Given the description of an element on the screen output the (x, y) to click on. 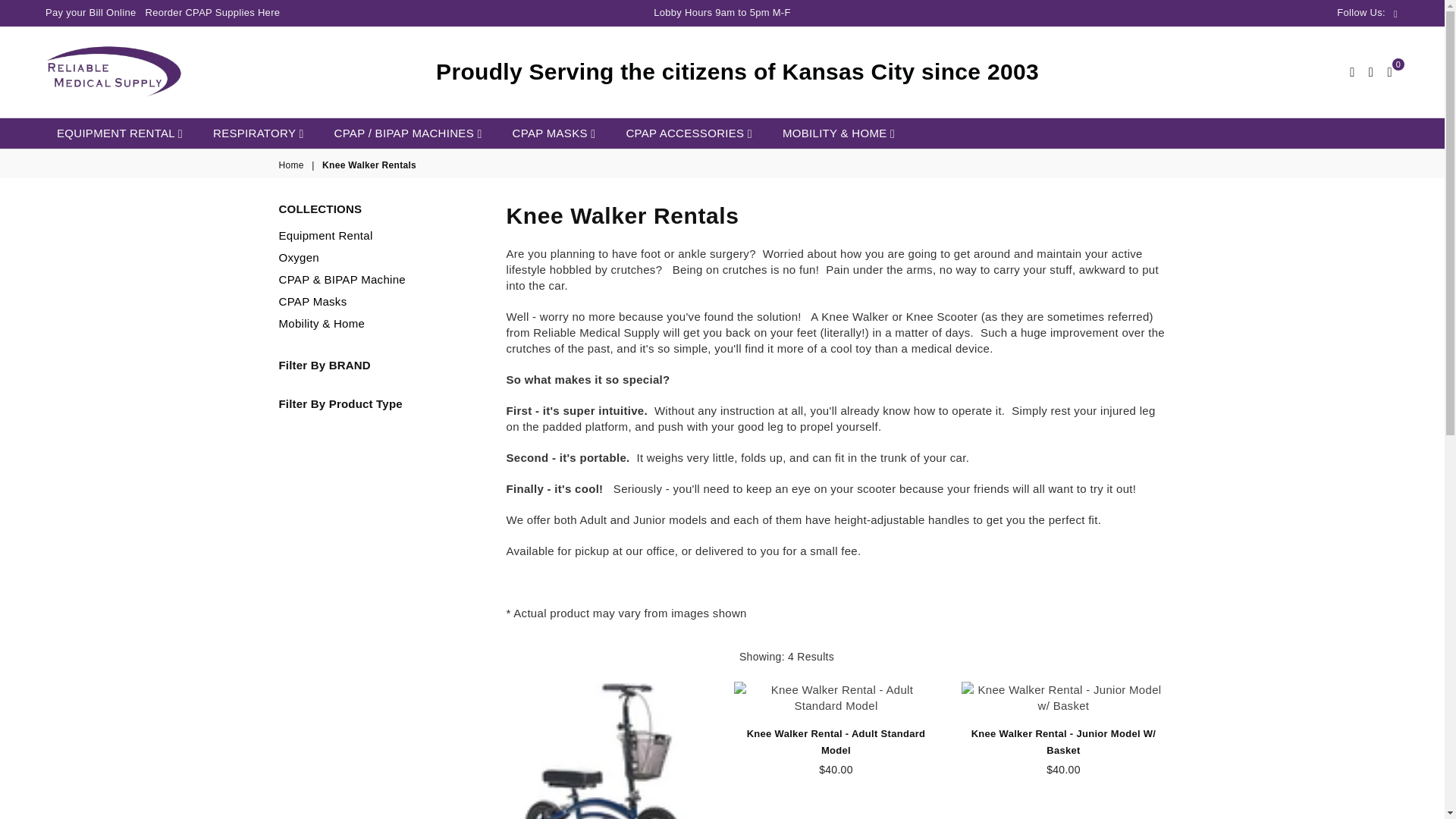
Facebook (1396, 13)
RESPIRATORY (258, 132)
Reliable Medical Supply (125, 72)
CPAP MASKS (553, 132)
Pay your Bill Online (90, 12)
EQUIPMENT RENTAL (119, 132)
Back to the home page (292, 164)
Reorder CPAP Supplies Here (211, 12)
CPAP ACCESSORIES (688, 132)
Reliable Medical Supply on Facebook (1396, 13)
